Given the description of an element on the screen output the (x, y) to click on. 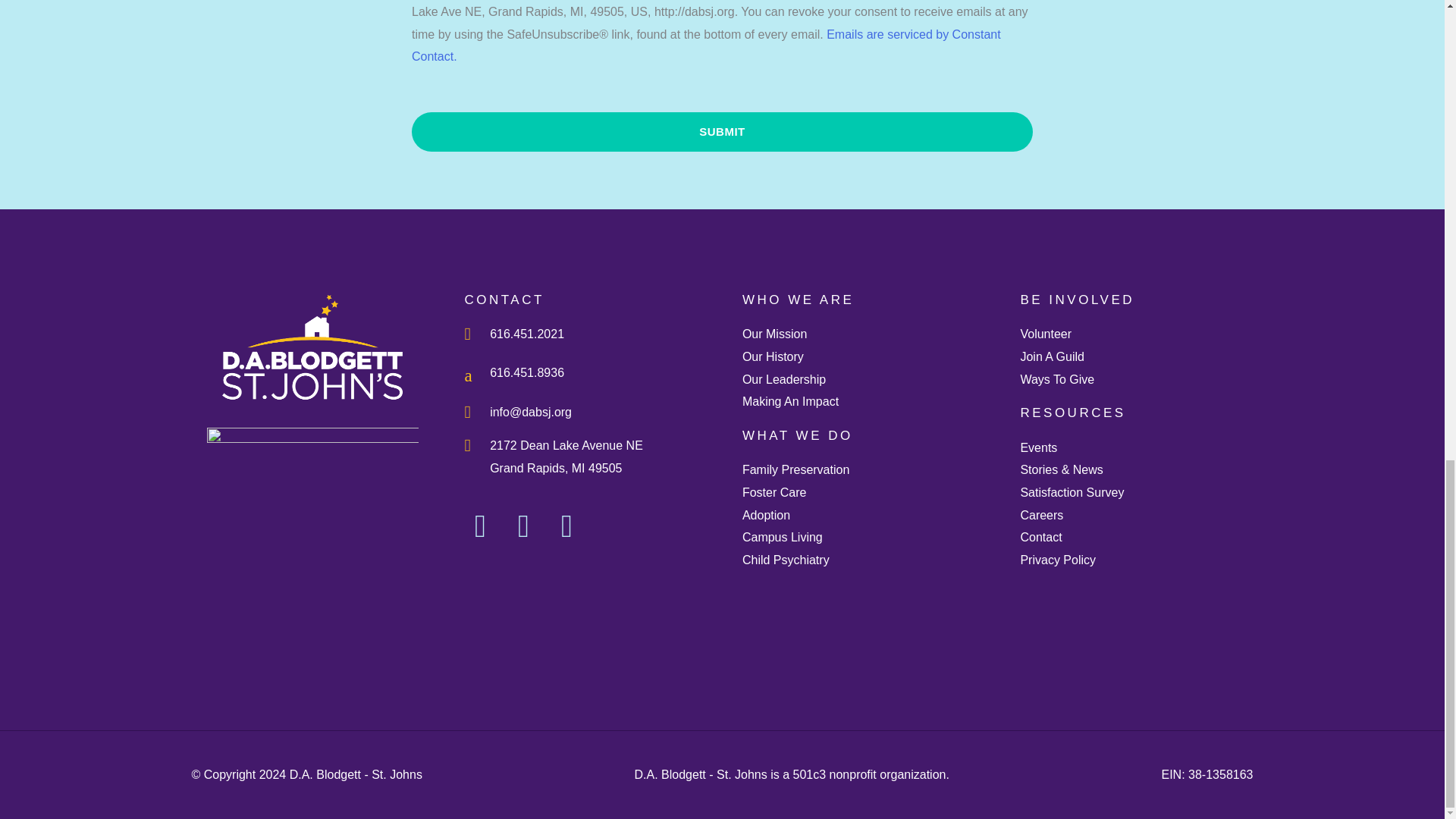
616.451.2021 (587, 333)
Emails are serviced by Constant Contact. (706, 45)
SUBMIT (722, 131)
